Given the description of an element on the screen output the (x, y) to click on. 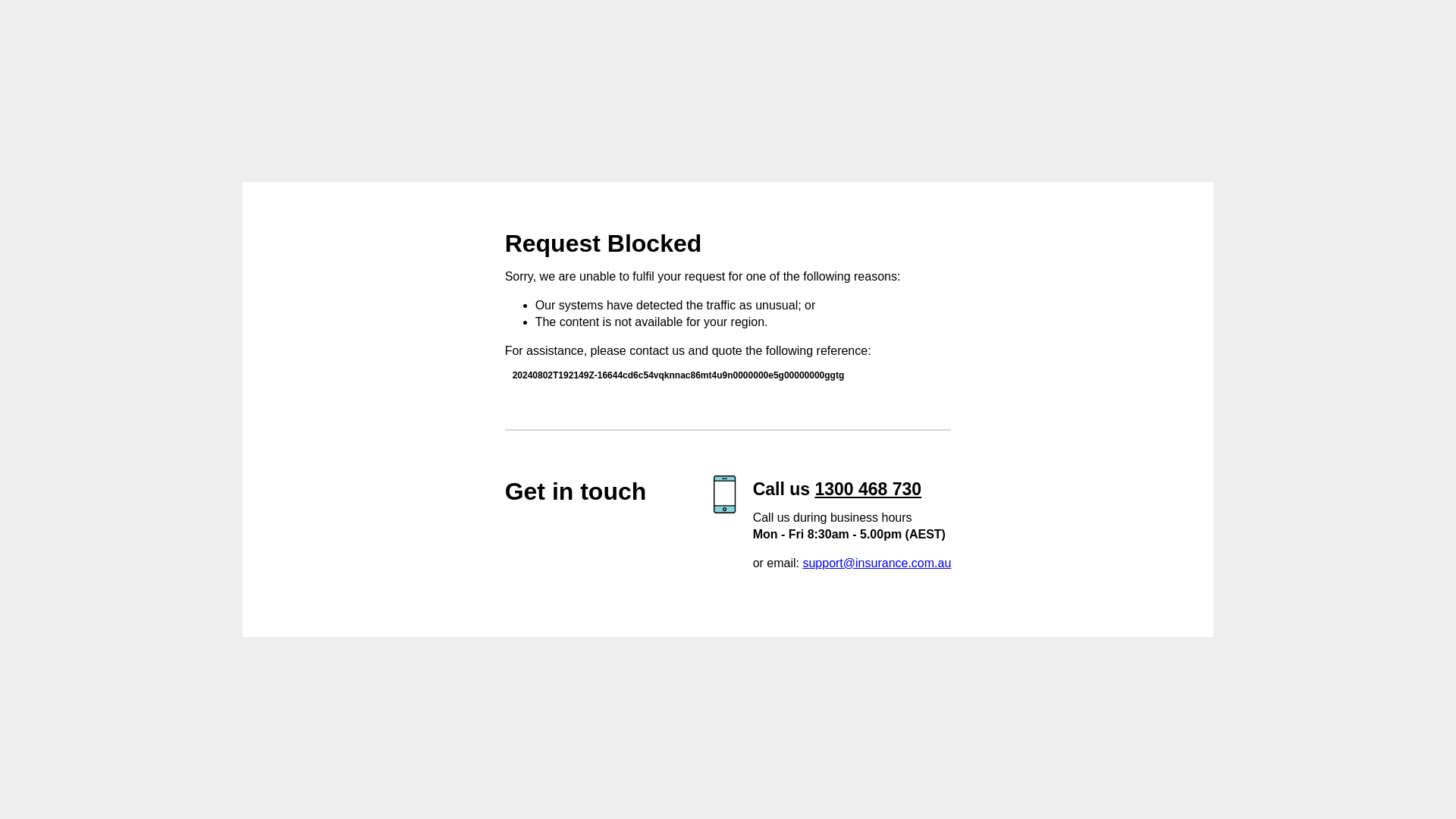
1300 468 730 (867, 488)
Insurance.com.au (394, 273)
